Given the description of an element on the screen output the (x, y) to click on. 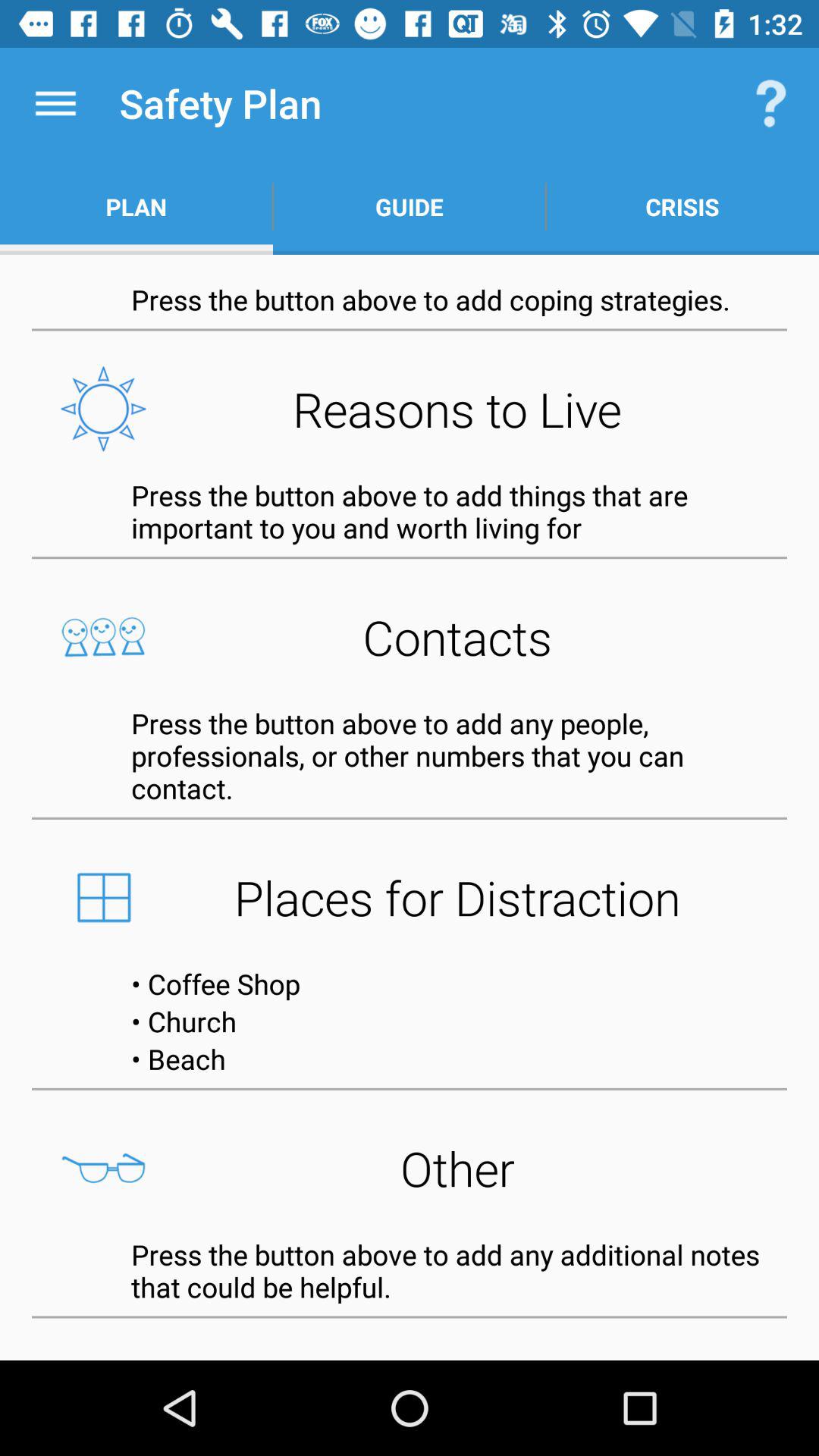
select item above the press the button icon (409, 636)
